Given the description of an element on the screen output the (x, y) to click on. 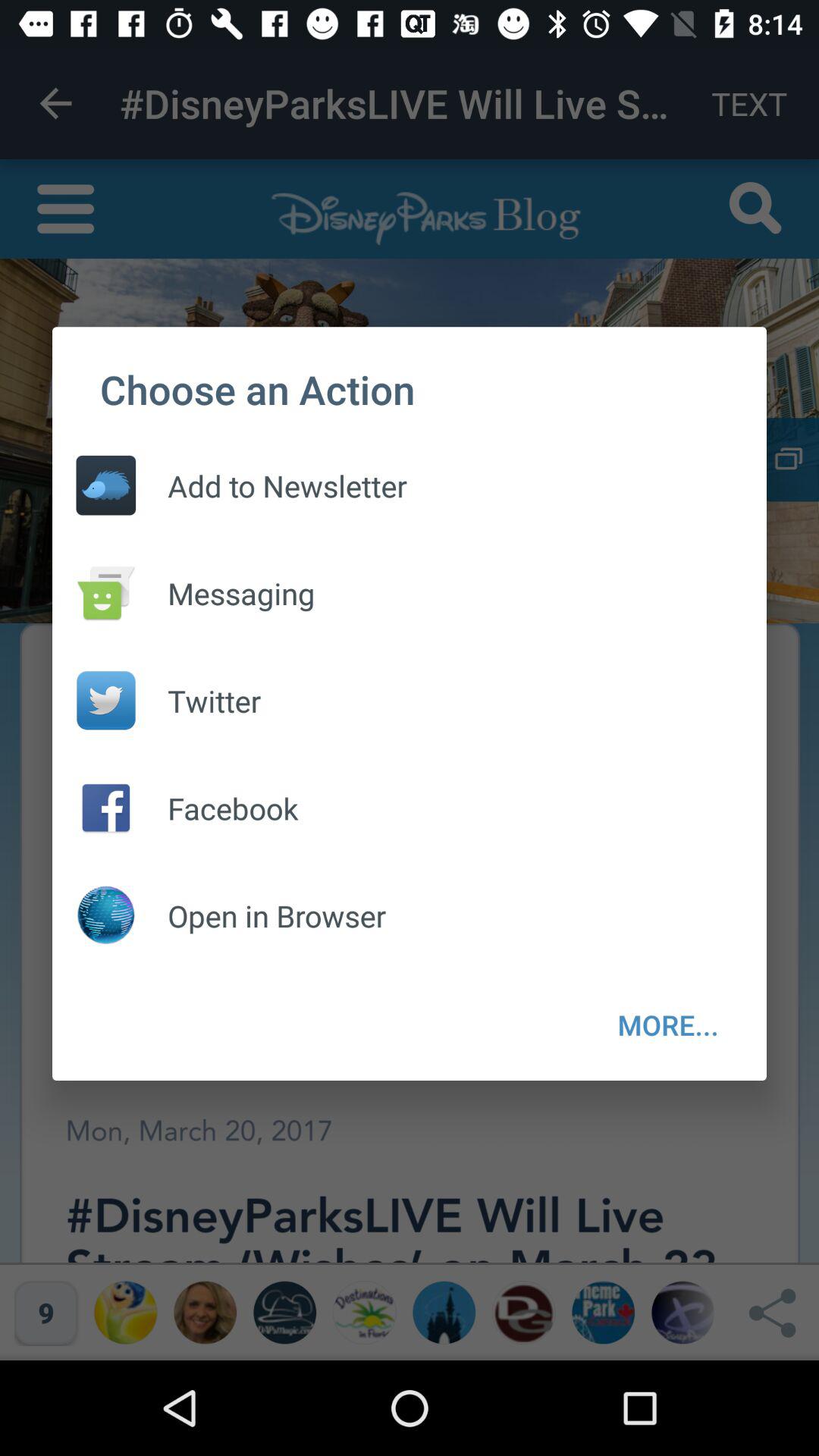
open the add to newsletter item (271, 485)
